Given the description of an element on the screen output the (x, y) to click on. 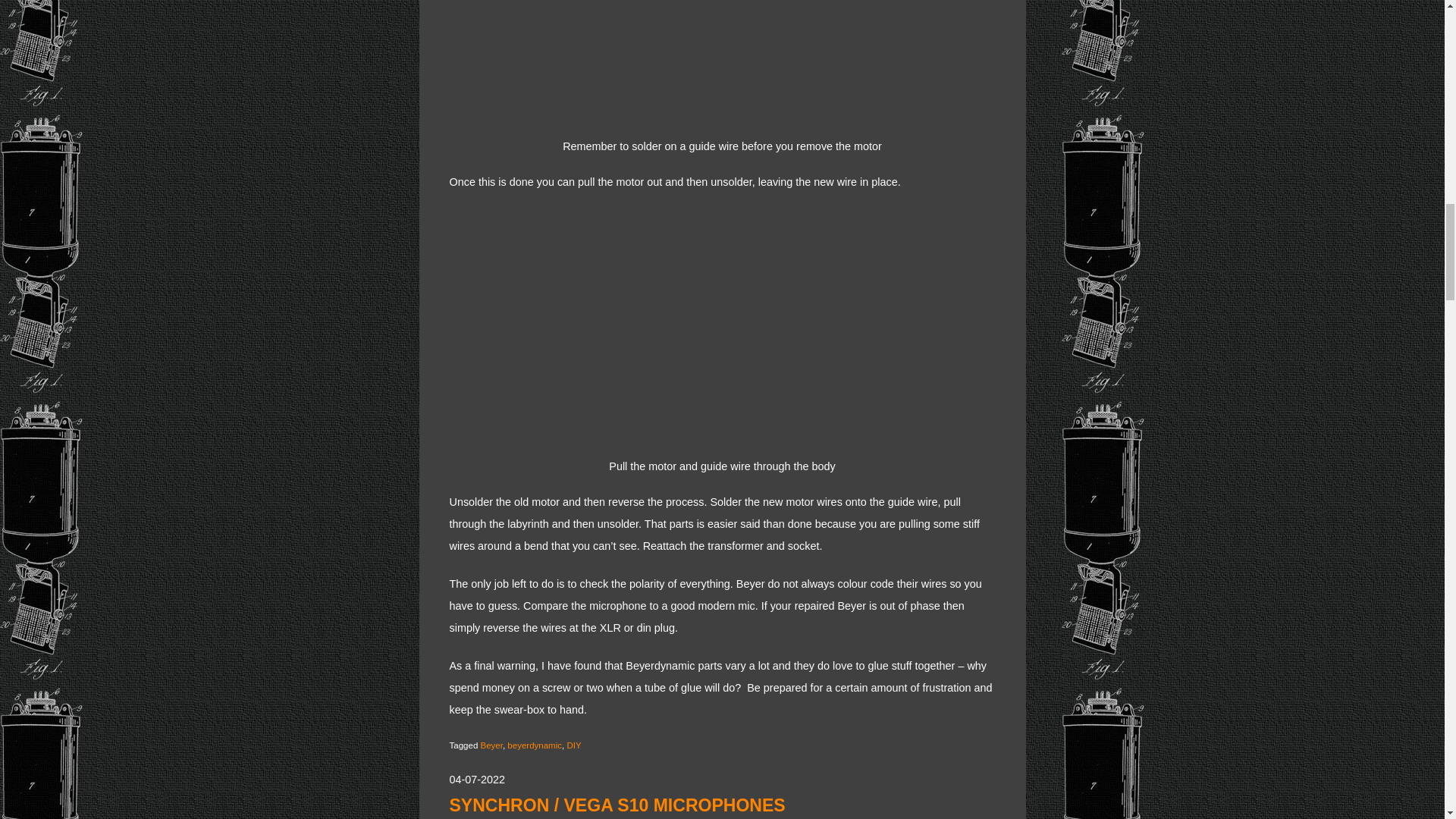
DIY (573, 745)
Beyer (491, 745)
beyerdynamic (534, 745)
